Given the description of an element on the screen output the (x, y) to click on. 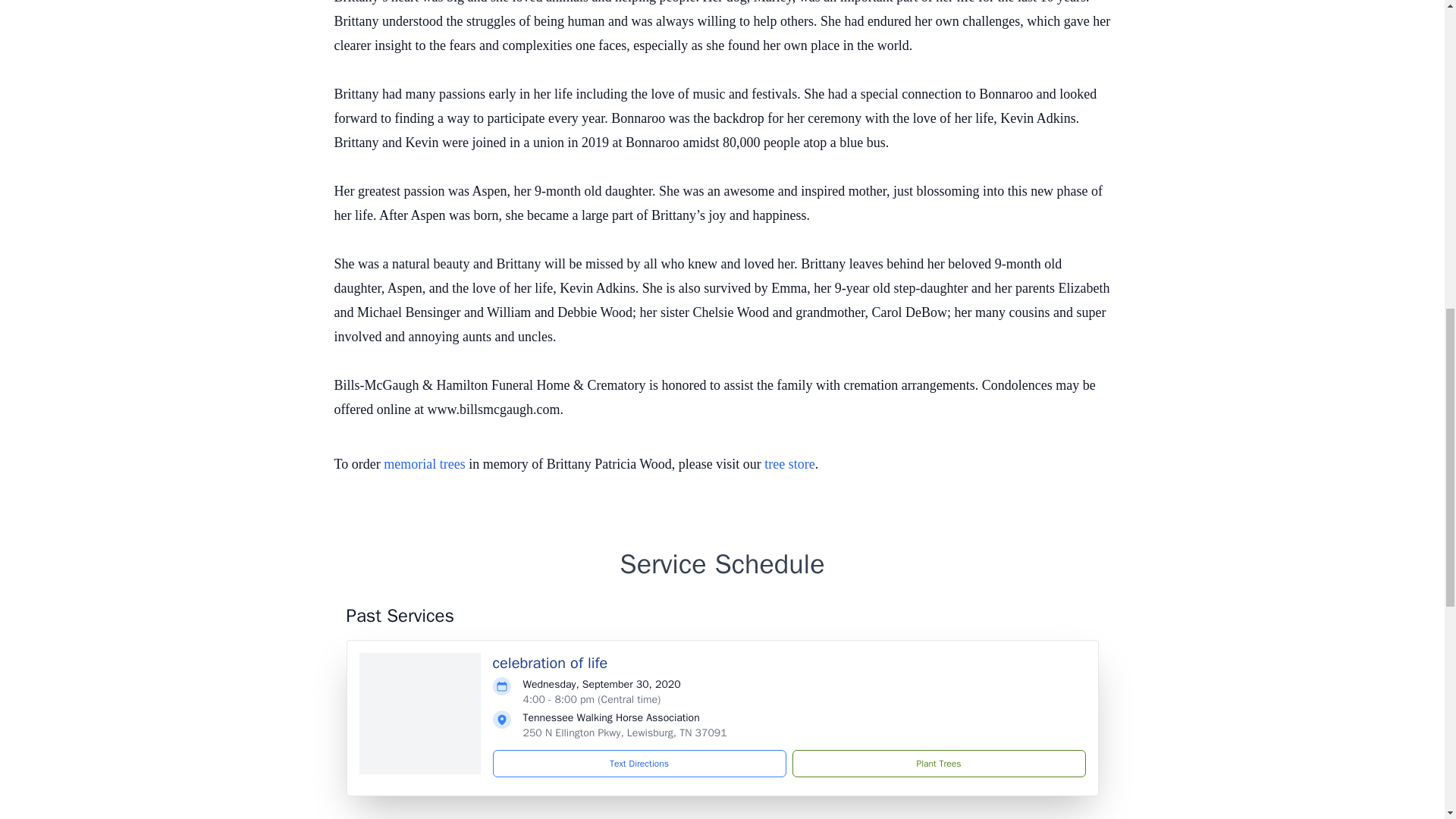
tree store (788, 463)
Text Directions (639, 763)
memorial trees (424, 463)
250 N Ellington Pkwy, Lewisburg, TN 37091 (624, 732)
Plant Trees (938, 763)
